Given the description of an element on the screen output the (x, y) to click on. 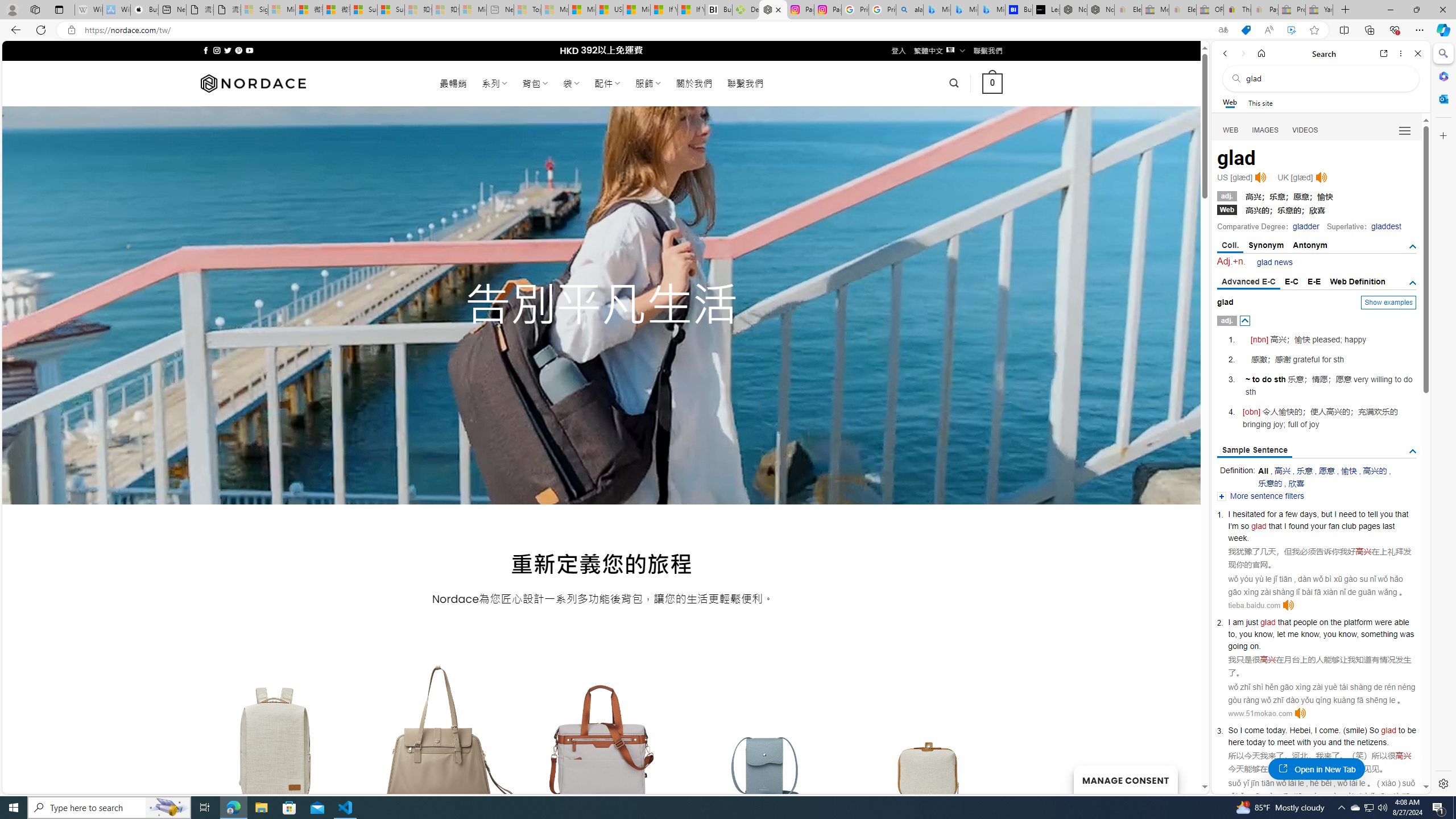
( (1344, 729)
Follow on Facebook (205, 50)
with (1304, 741)
Antonym (1310, 245)
something (1379, 633)
